Given the description of an element on the screen output the (x, y) to click on. 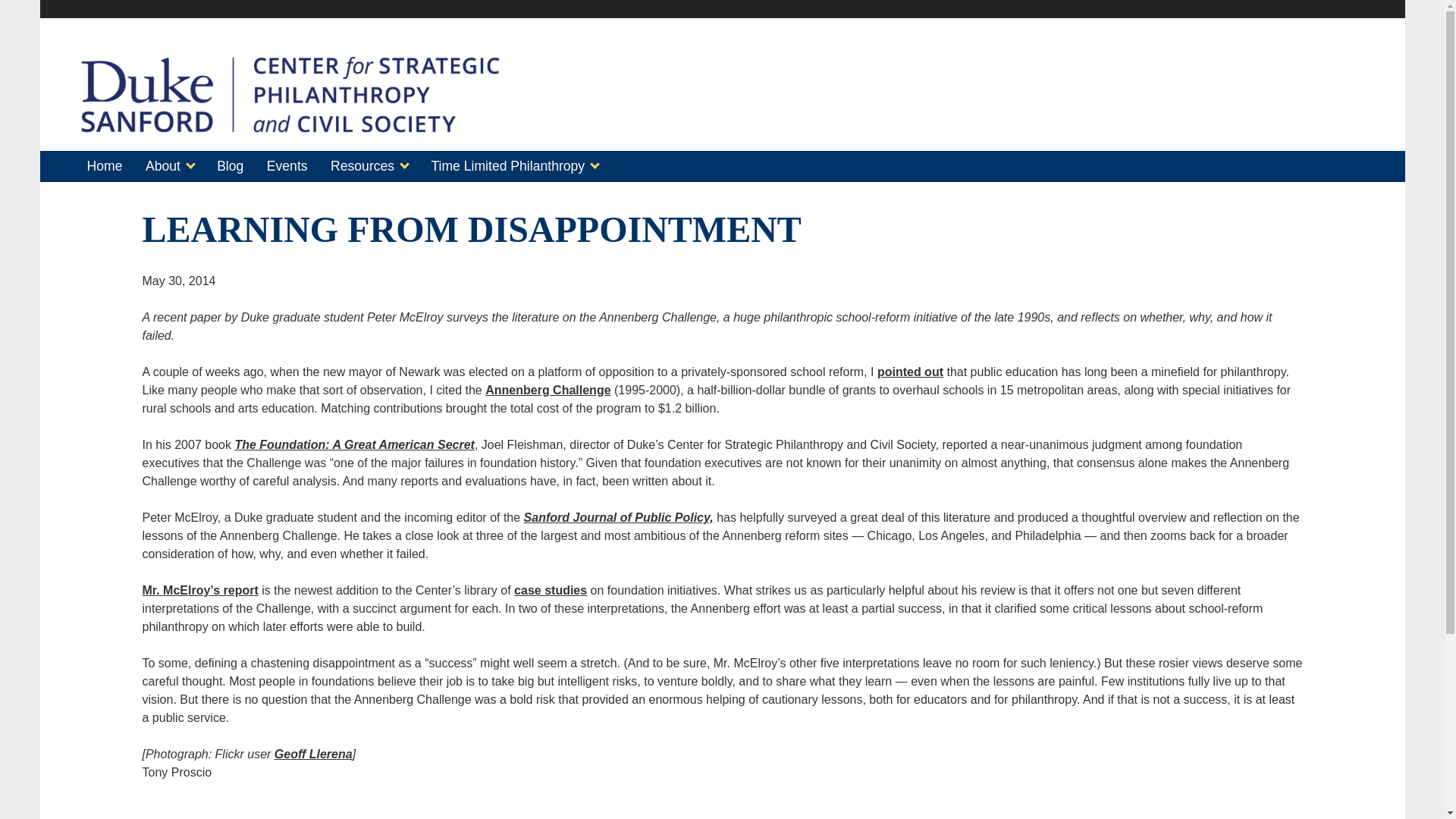
About (169, 166)
Annenberg Challenge (547, 390)
The Foundation: A Great American Secret (354, 444)
Events (287, 166)
Geoff Llerena (313, 753)
Home (104, 166)
case studies (549, 590)
Resources (368, 166)
Time Limited Philanthropy (514, 166)
Blog (229, 166)
pointed out (910, 371)
Sanford Journal of Public Policy, (618, 517)
Center for Strategic Philanthropy and Civil Society (289, 126)
